Given the description of an element on the screen output the (x, y) to click on. 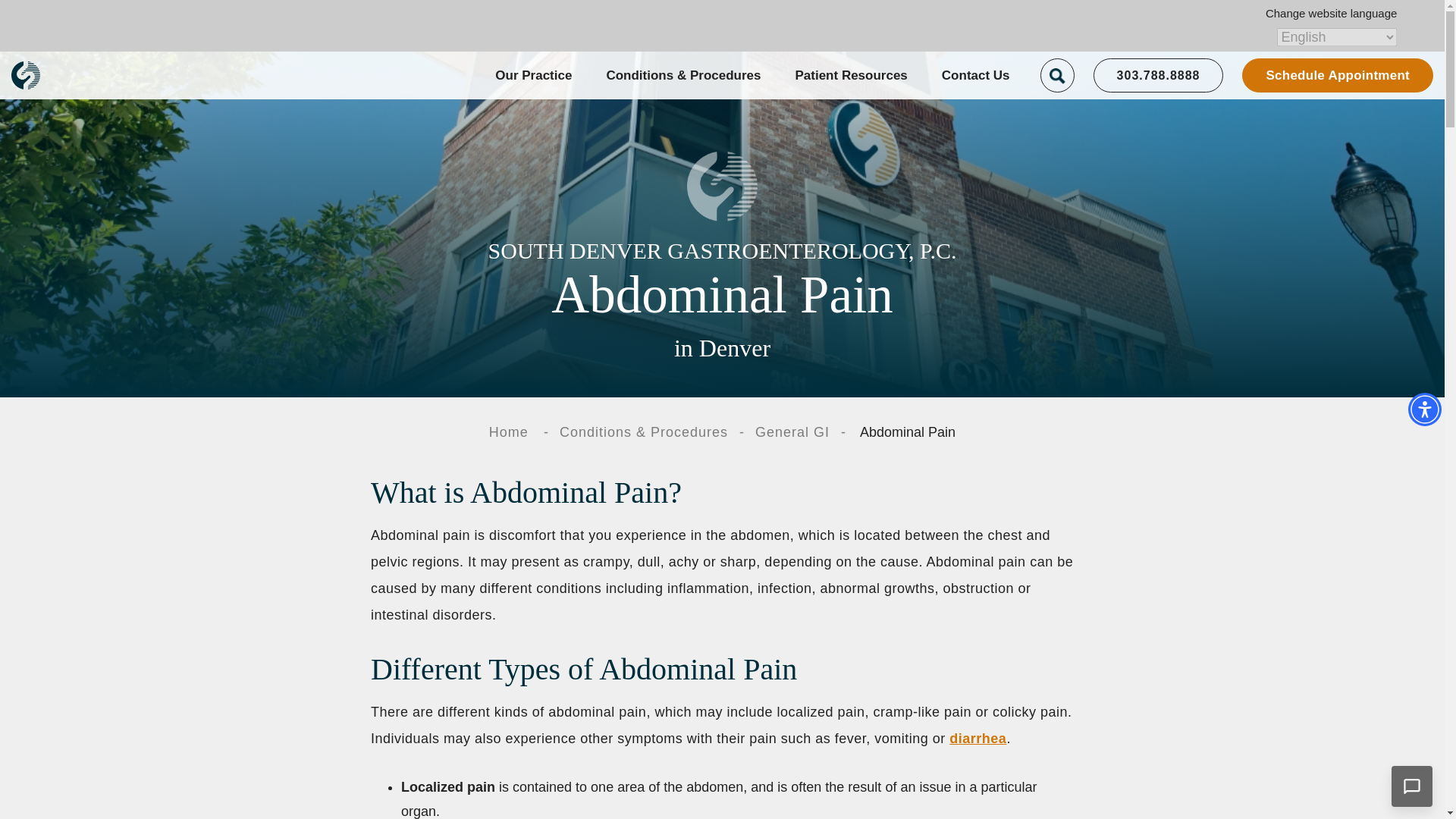
Accessibility Menu (1424, 409)
